Given the description of an element on the screen output the (x, y) to click on. 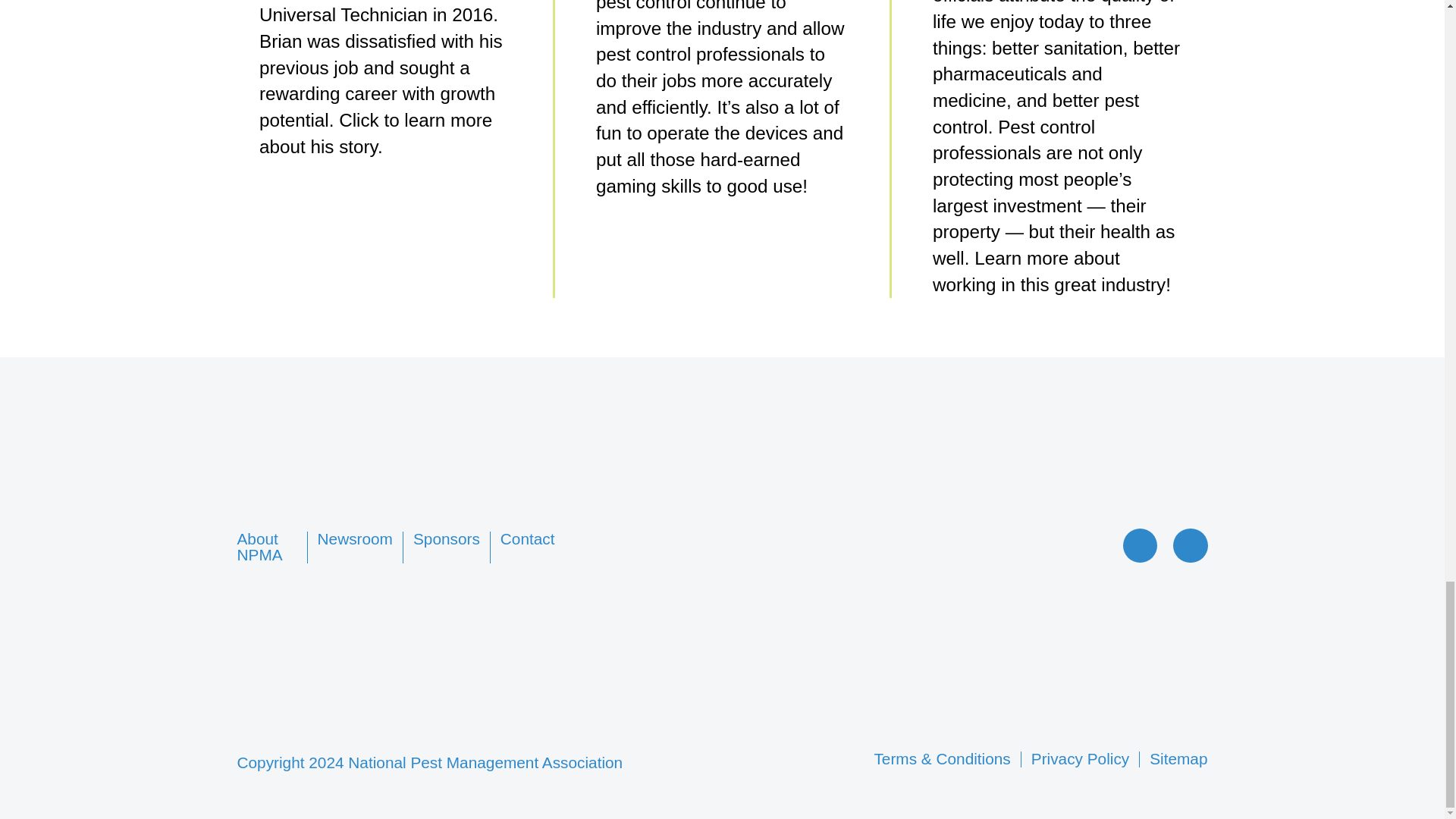
Privacy Policy (1079, 758)
Newsroom (355, 538)
Sitemap (1178, 758)
LinkedIn (1190, 554)
Contact (527, 538)
About NPMA (258, 546)
Facebook (1142, 554)
Sponsors (446, 538)
